Given the description of an element on the screen output the (x, y) to click on. 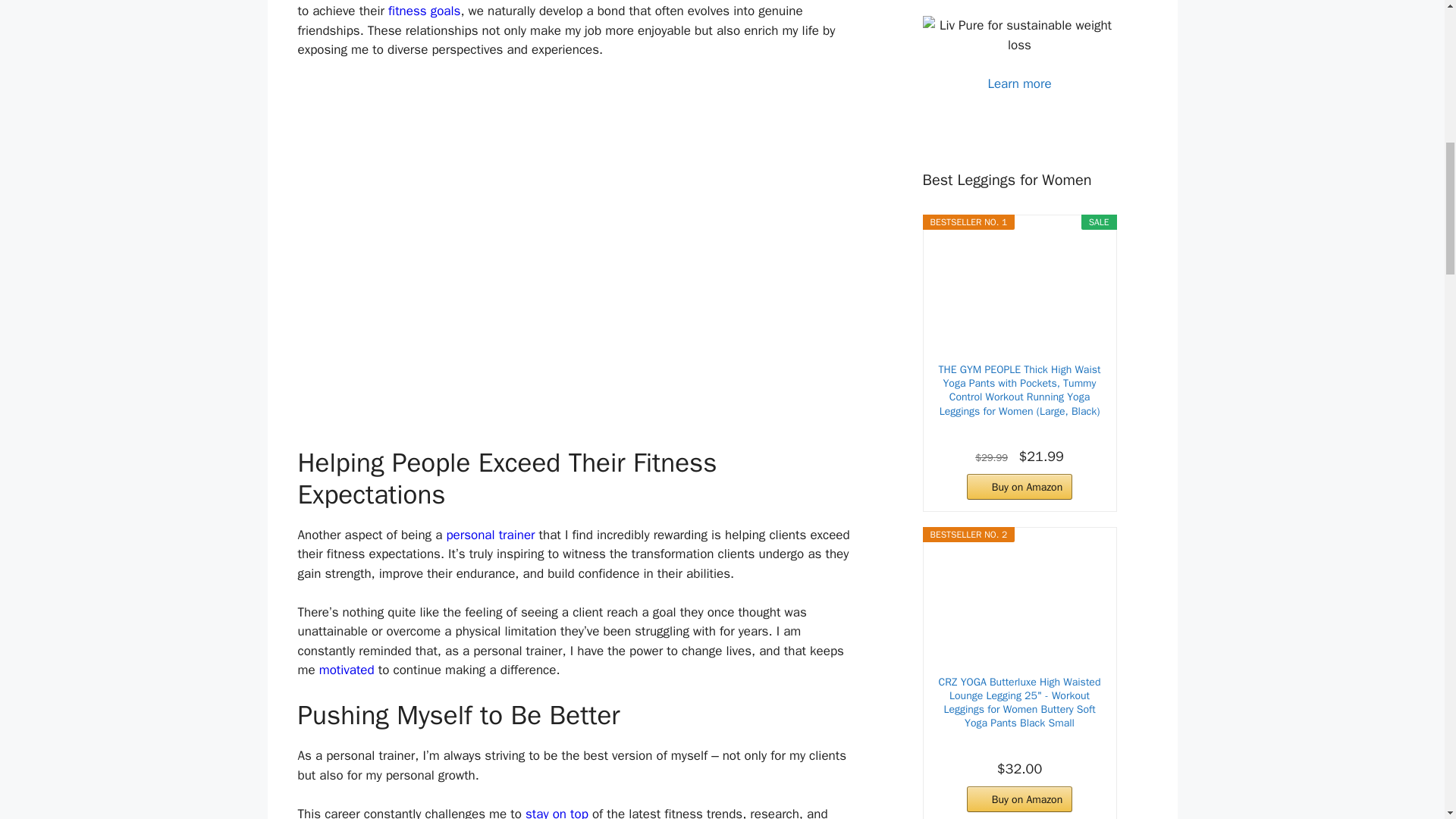
personal trainer (489, 534)
motivated (346, 669)
stay on top (556, 812)
Buy on Amazon (1018, 486)
fitness goals (424, 10)
Reviews on Amazon (994, 744)
Amazon Prime (1019, 431)
